Given the description of an element on the screen output the (x, y) to click on. 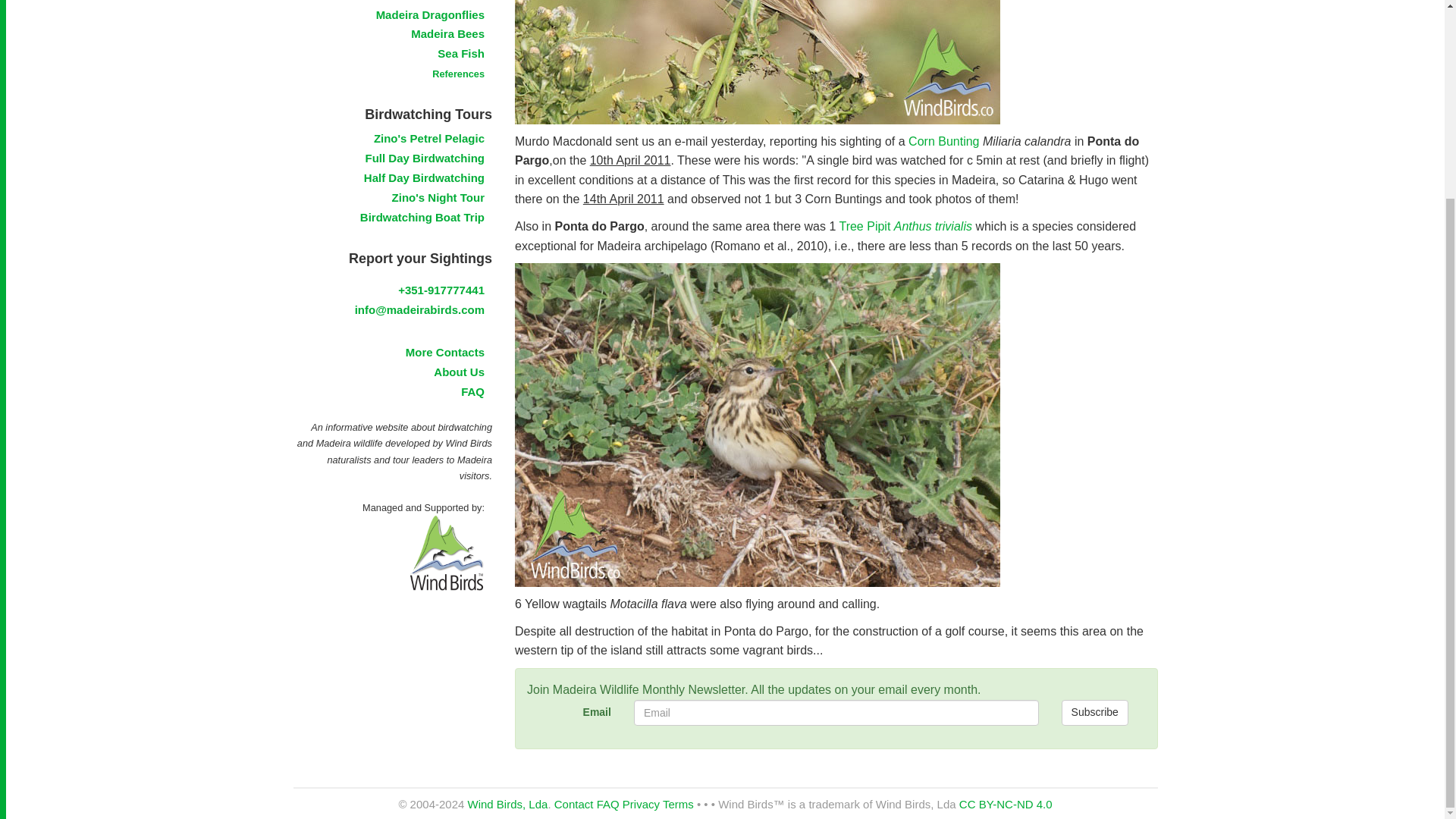
About Us (458, 371)
Tree Pipit (863, 226)
Half Day Birdwatching (424, 177)
Birdwatching Boat Trip (421, 216)
Zino's Night Tour (437, 196)
Land Tour Madeira Birdwatching (424, 157)
Terms (678, 803)
Contact (574, 803)
Anthus trivialis (932, 226)
Madeira Bees (447, 33)
